Given the description of an element on the screen output the (x, y) to click on. 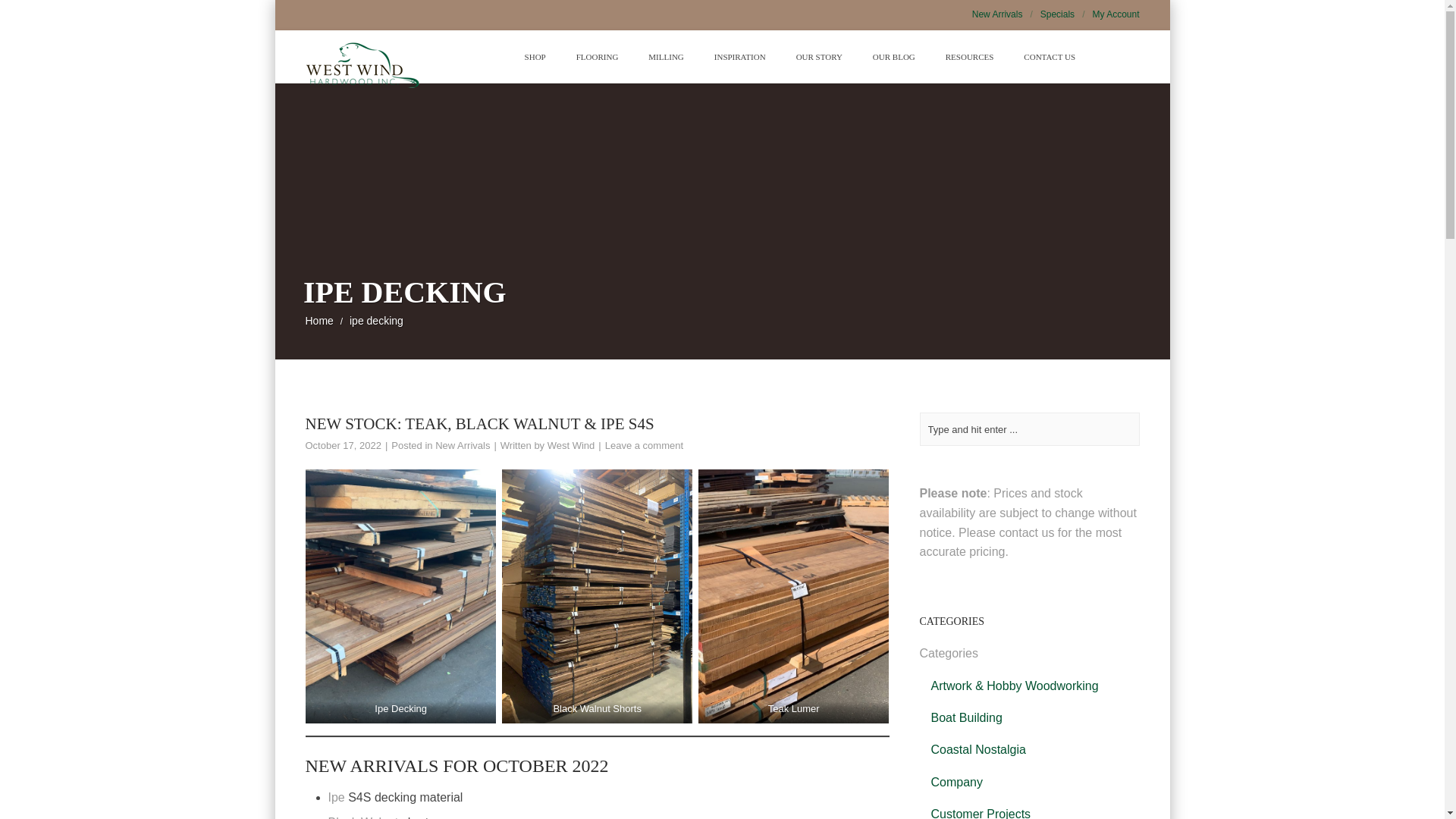
RESOURCES (969, 56)
INSPIRATION (739, 56)
New Arrivals (1006, 14)
View all posts by West Wind (571, 445)
OUR BLOG (893, 56)
FLOORING (596, 56)
Specials (1067, 14)
MILLING (665, 56)
SHOP (534, 56)
Type and hit enter ... (1028, 428)
View your shopping cart (1105, 71)
My Account (1115, 14)
OUR STORY (818, 56)
Type and hit enter ... (1028, 428)
